Given the description of an element on the screen output the (x, y) to click on. 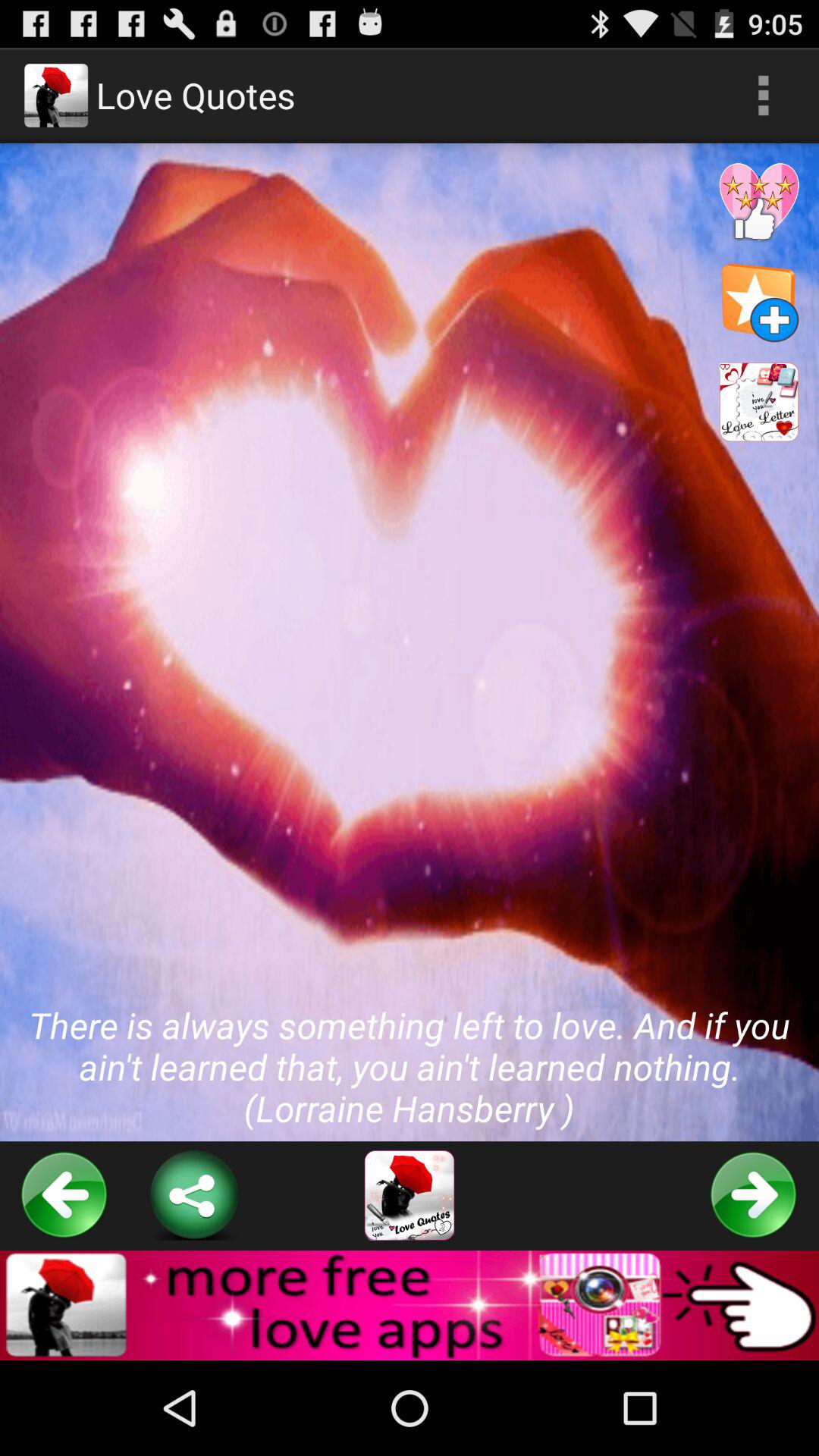
swipe to the there is always button (409, 642)
